Given the description of an element on the screen output the (x, y) to click on. 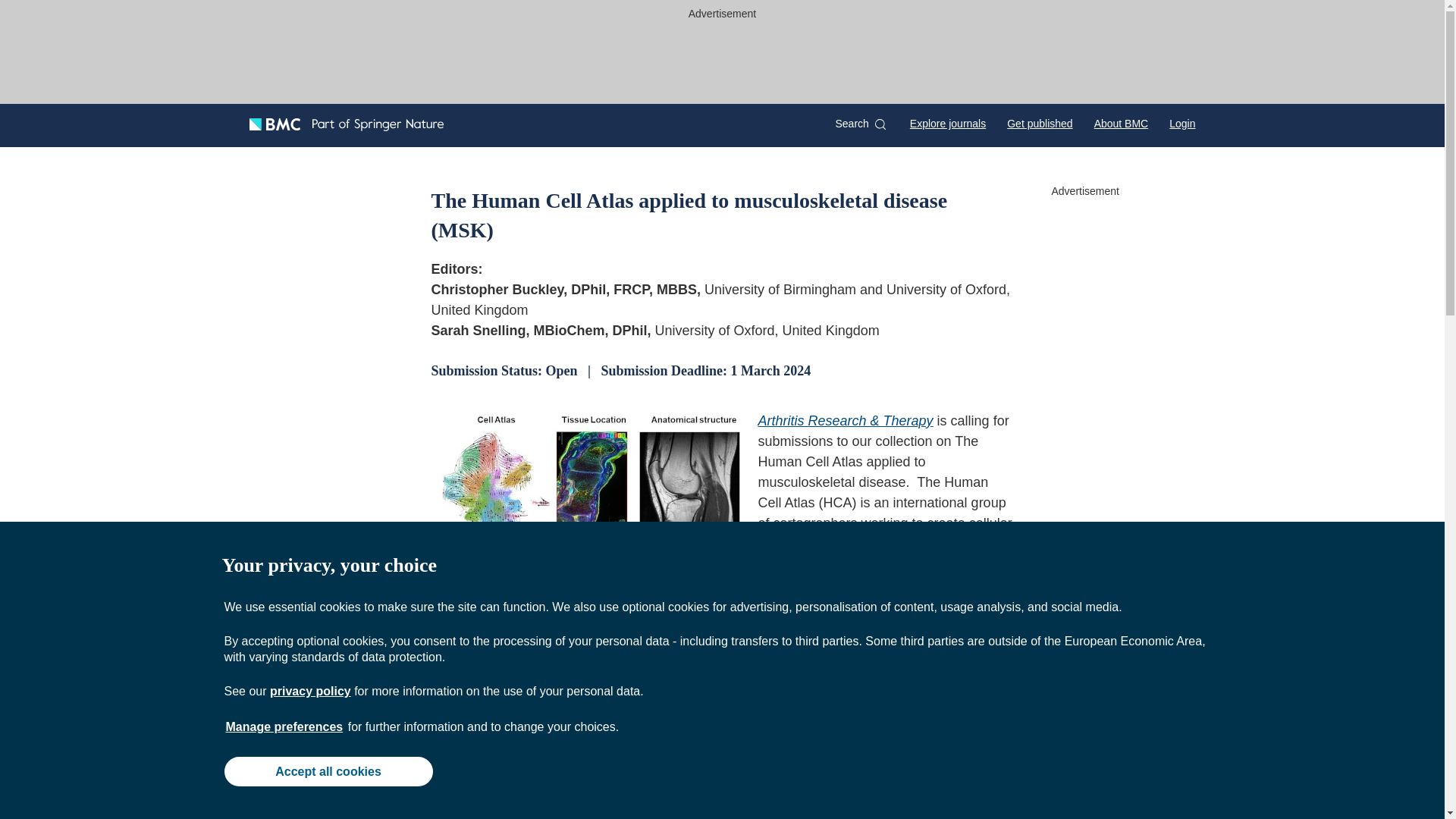
3rd party ad content (722, 59)
Login (1182, 123)
Submission Guidelines (911, 797)
About BMC (1121, 123)
Get published (1039, 123)
About the collection (529, 797)
Explore journals (947, 123)
Manage preferences (284, 726)
Accept all cookies (328, 771)
privacy policy (309, 690)
